Given the description of an element on the screen output the (x, y) to click on. 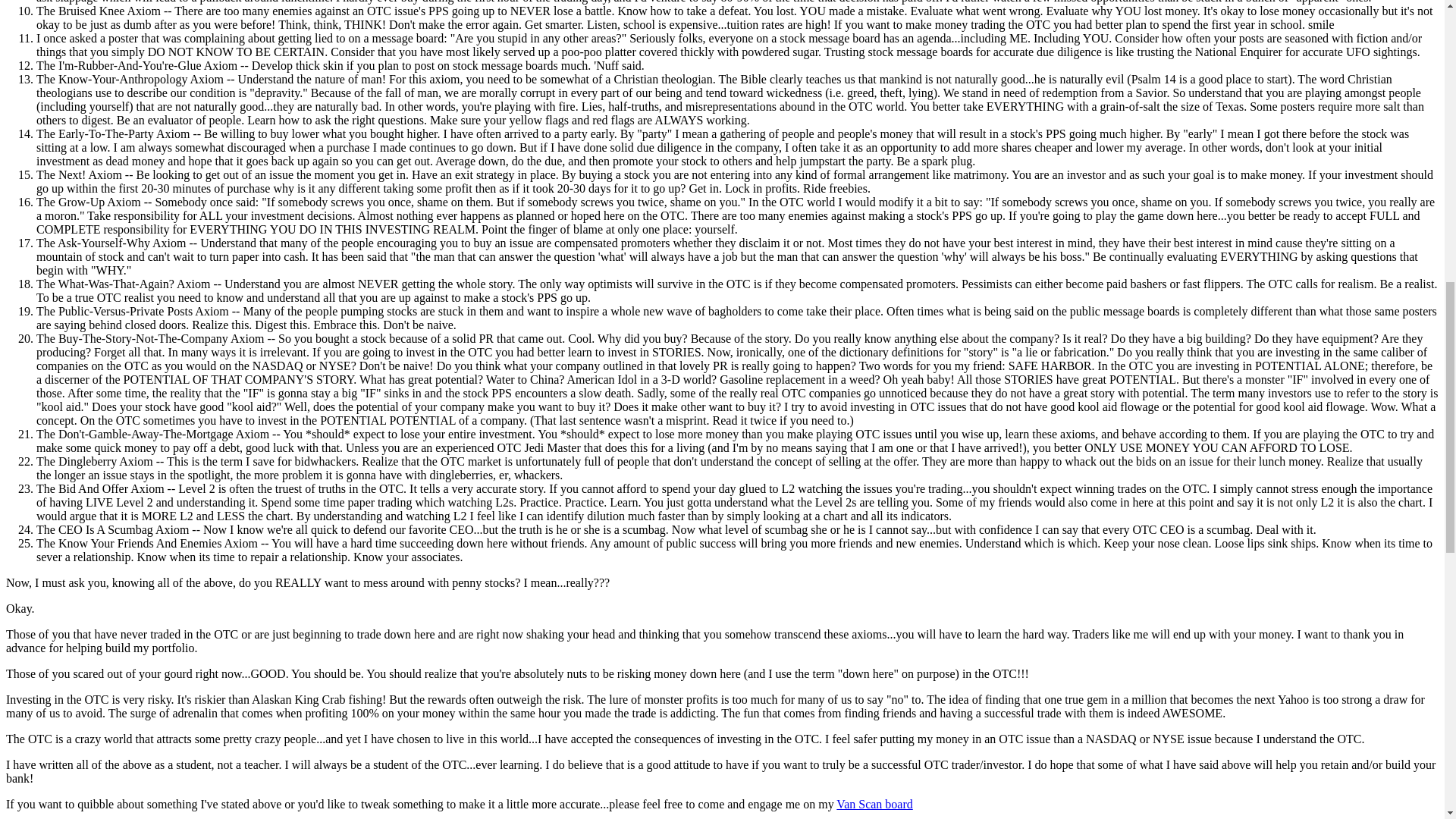
Van Scan board (873, 803)
